Given the description of an element on the screen output the (x, y) to click on. 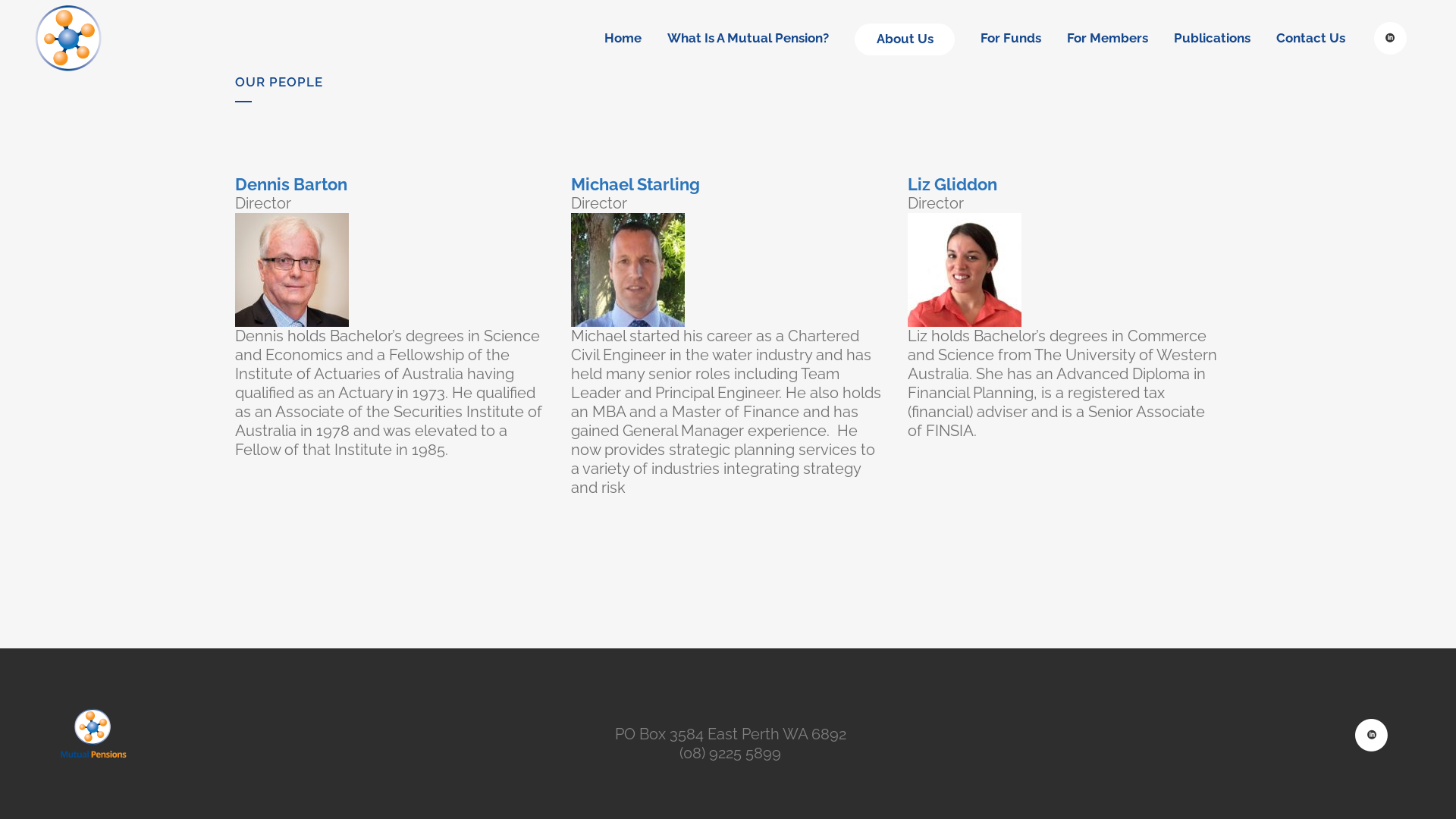
Contact Us Element type: text (1310, 37)
What Is A Mutual Pension? Element type: text (747, 37)
Publications Element type: text (1212, 37)
About Us Element type: text (904, 37)
Home Element type: text (622, 37)
For Funds Element type: text (1010, 37)
For Members Element type: text (1107, 37)
